Given the description of an element on the screen output the (x, y) to click on. 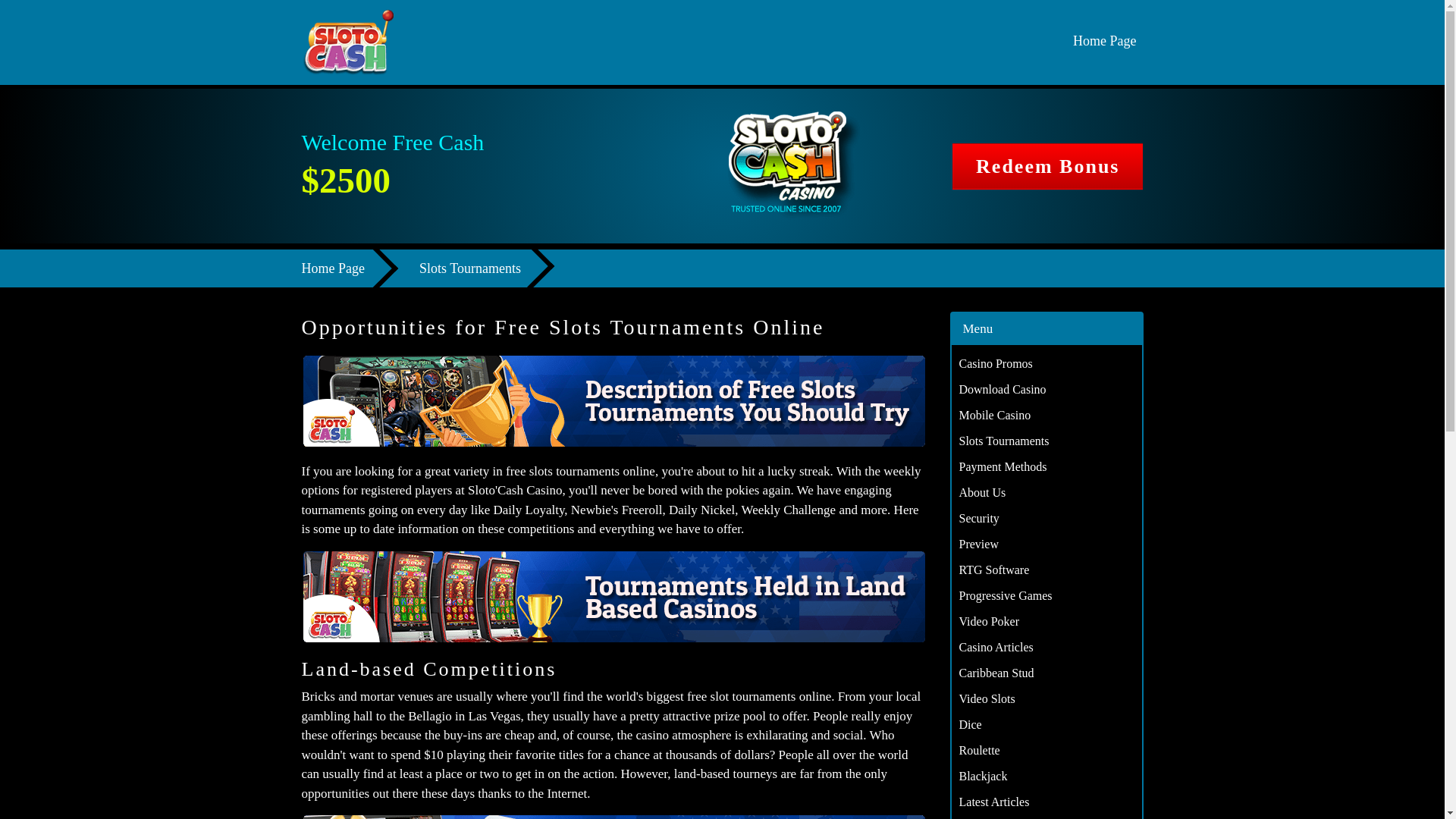
Caribbean Stud (995, 672)
Video Poker (987, 621)
Roulette (978, 749)
Casino Articles (995, 646)
RTG Software (993, 569)
Video Slots (986, 698)
Slots Tournaments (1003, 440)
Home Page (1104, 42)
Download Casino (1001, 389)
Redeem Bonus (1047, 166)
Security (978, 517)
Home Page (346, 269)
Progressive Games (1004, 594)
Latest Articles (993, 801)
Payment Methods (1002, 466)
